Given the description of an element on the screen output the (x, y) to click on. 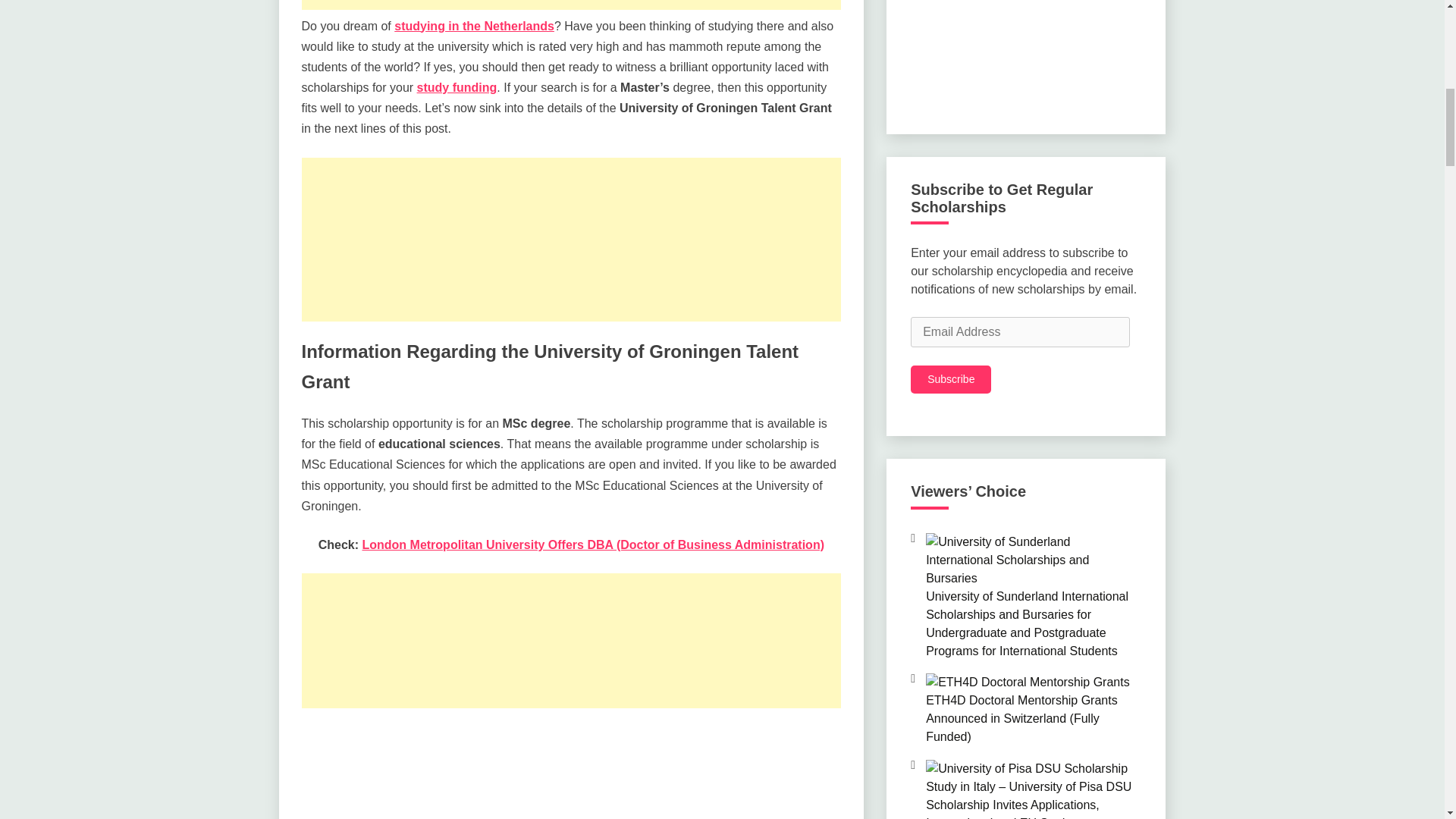
study funding (456, 87)
studying in the Netherlands (474, 25)
